Given the description of an element on the screen output the (x, y) to click on. 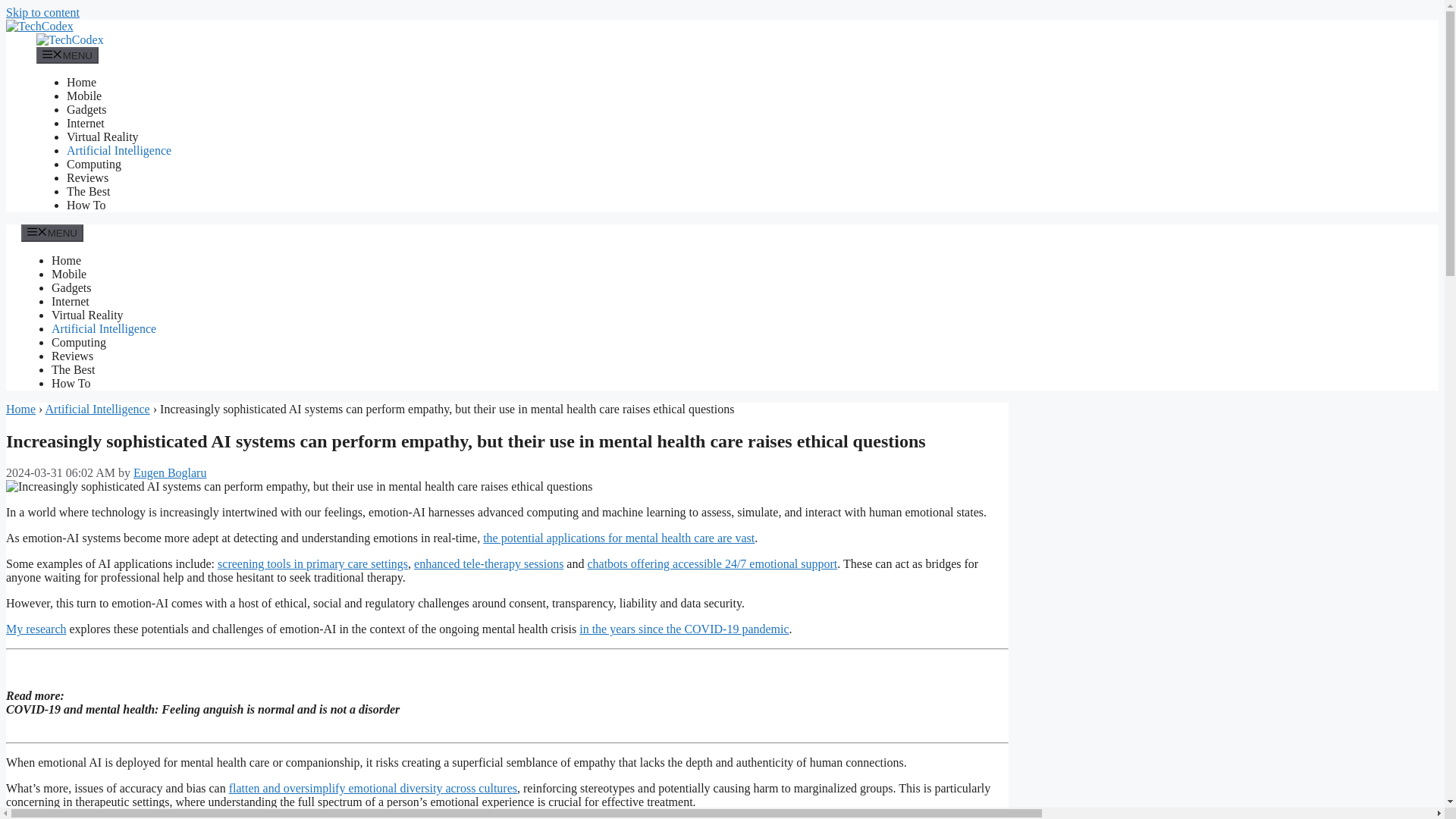
the potential applications for mental health care are vast (618, 537)
MENU (67, 54)
My research (35, 628)
Home (65, 259)
screening tools in primary care settings (311, 563)
enhanced tele-therapy sessions (488, 563)
Home (19, 408)
Home (19, 408)
Gadgets (86, 109)
MENU (51, 232)
Gadgets (70, 287)
Internet (85, 123)
Computing (78, 341)
Reviews (86, 177)
Artificial Intelligence (97, 408)
